Given the description of an element on the screen output the (x, y) to click on. 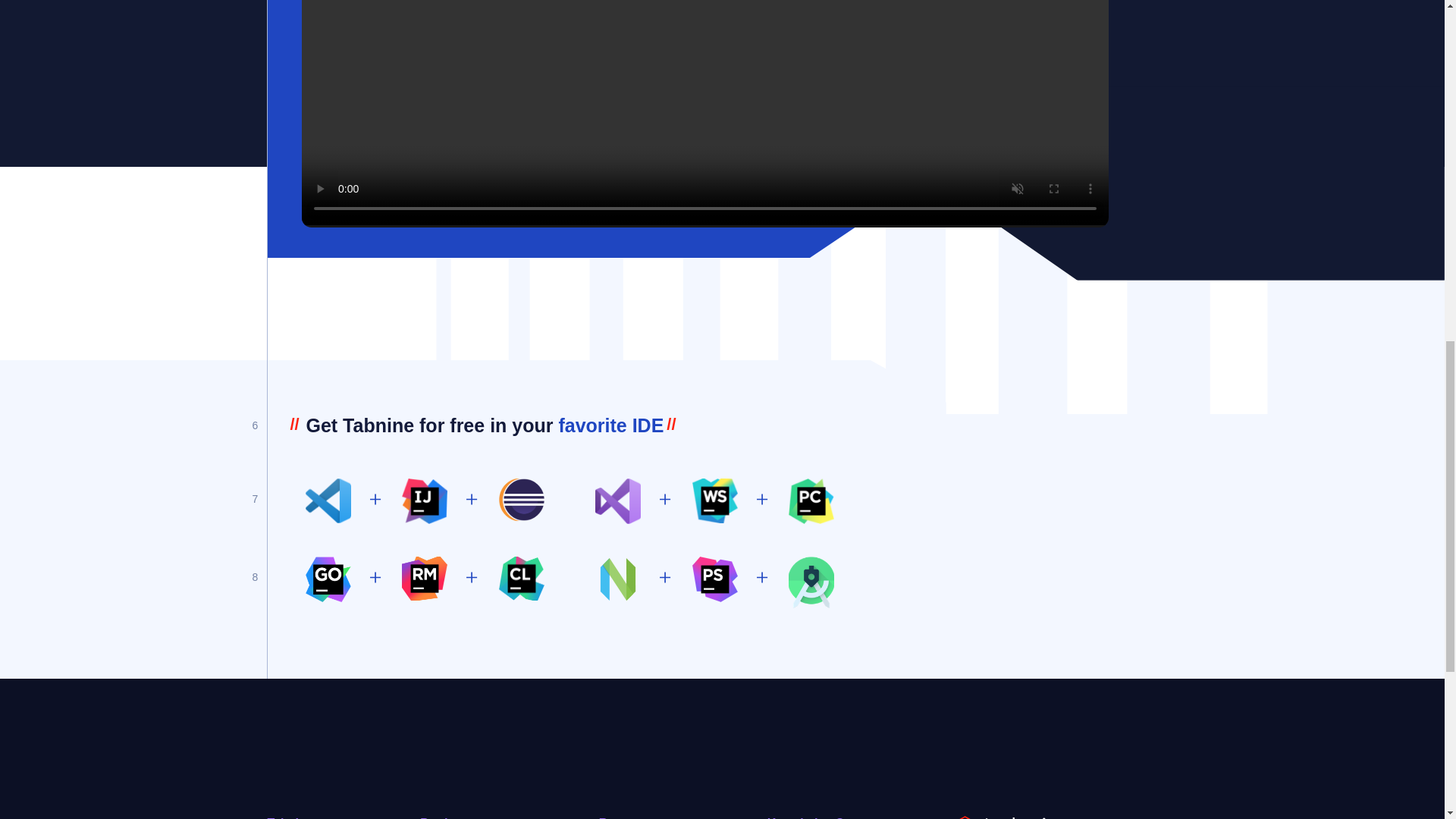
VS Code (327, 500)
Eclipse (521, 499)
PyCharm (811, 501)
CLion (521, 577)
RubyMine (423, 578)
Visual Studio (617, 501)
IntelliJ (423, 501)
WebStorm (713, 500)
GoLand (327, 578)
